Given the description of an element on the screen output the (x, y) to click on. 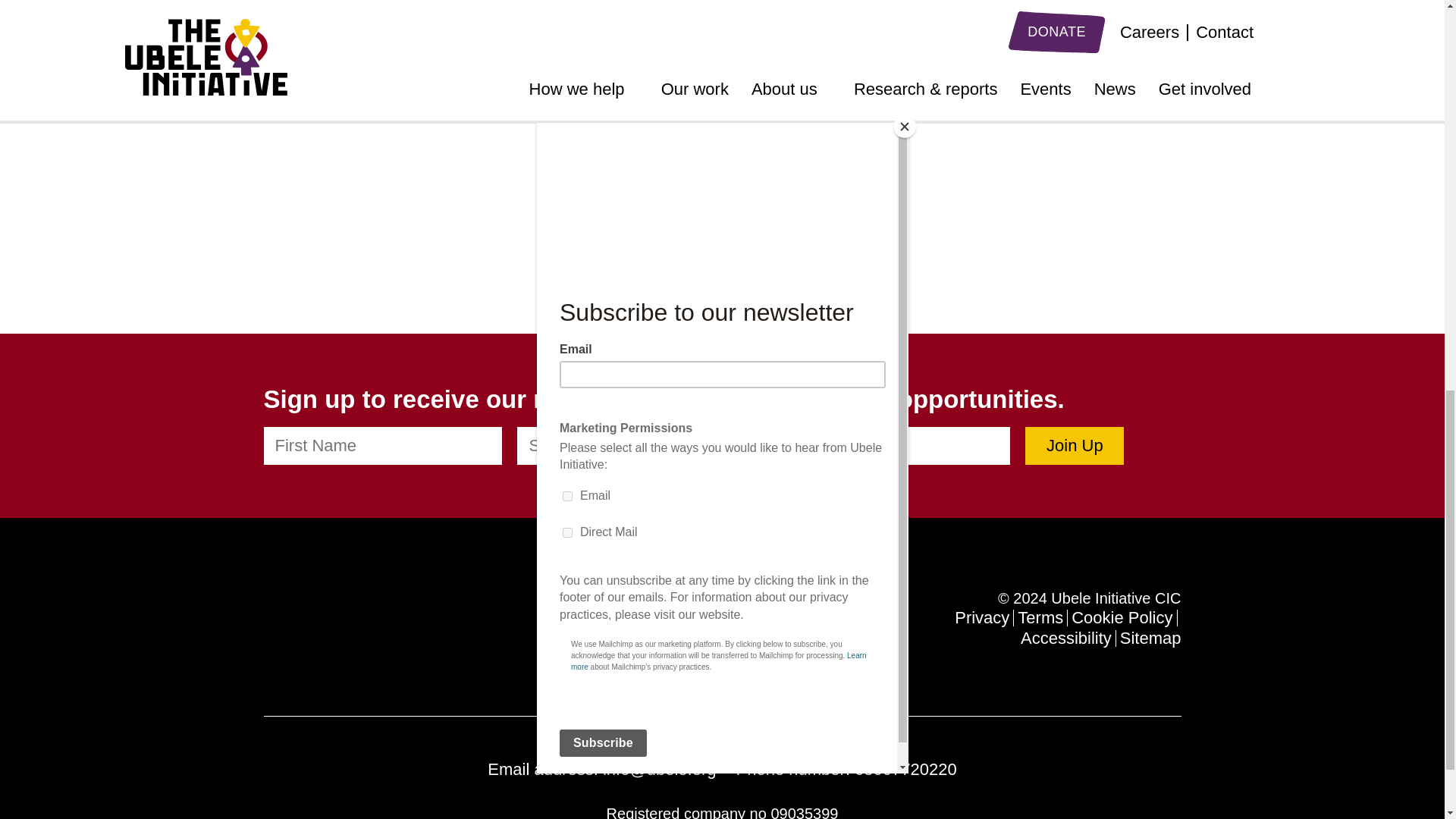
See all (720, 214)
The Ubele Initiative Medium page (416, 622)
The Ubele Initiative Instagram page (356, 622)
Join Up (1074, 445)
The Ubele Initiative Youtube page (386, 622)
The Ubele Initiative Linkedin page (272, 622)
The Ubele Initiative Eventbrite page (447, 622)
The Ubele Initiative Twitter page (304, 621)
